Given the description of an element on the screen output the (x, y) to click on. 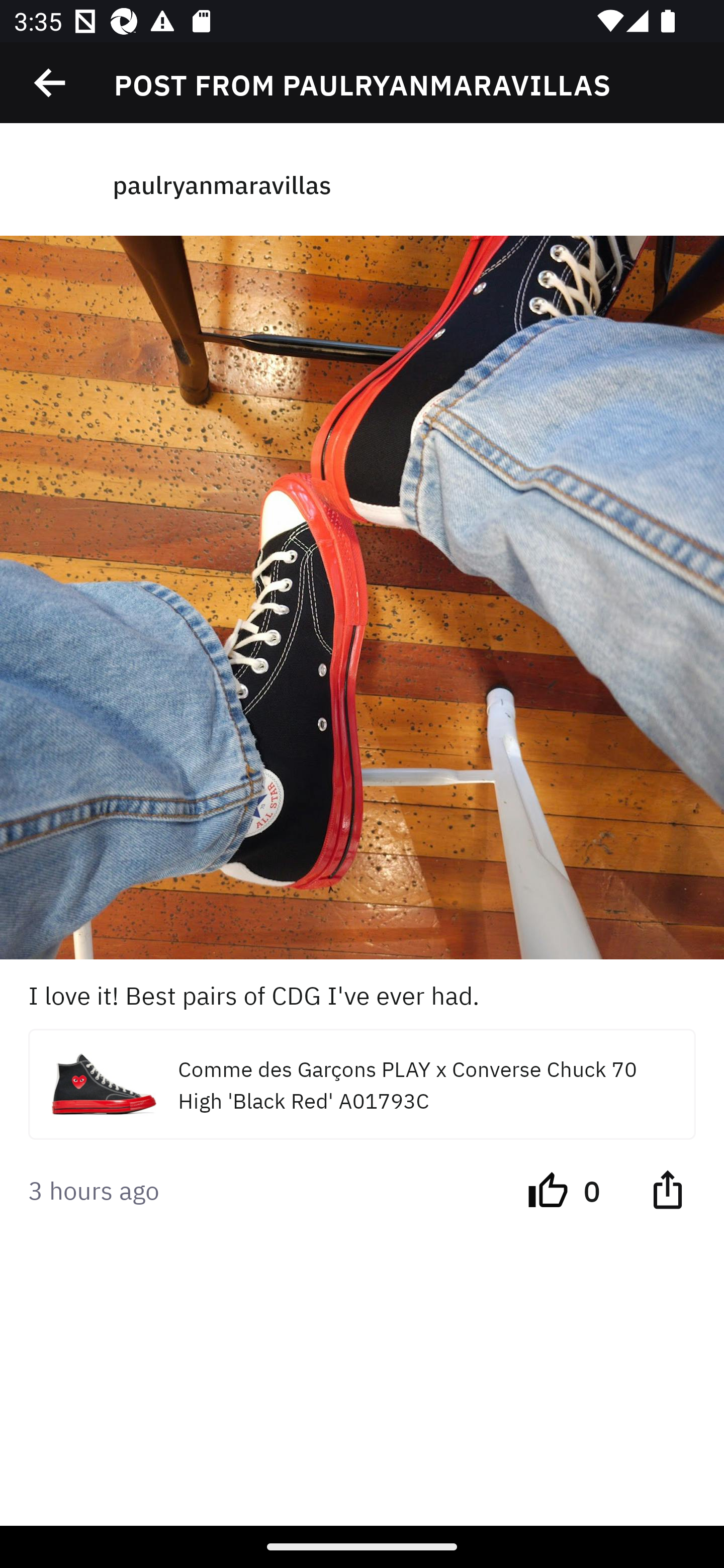
 (50, 83)
I love it! Best pairs of CDG I've ever had. (362, 993)
󰔔 (547, 1188)
 (667, 1188)
